Given the description of an element on the screen output the (x, y) to click on. 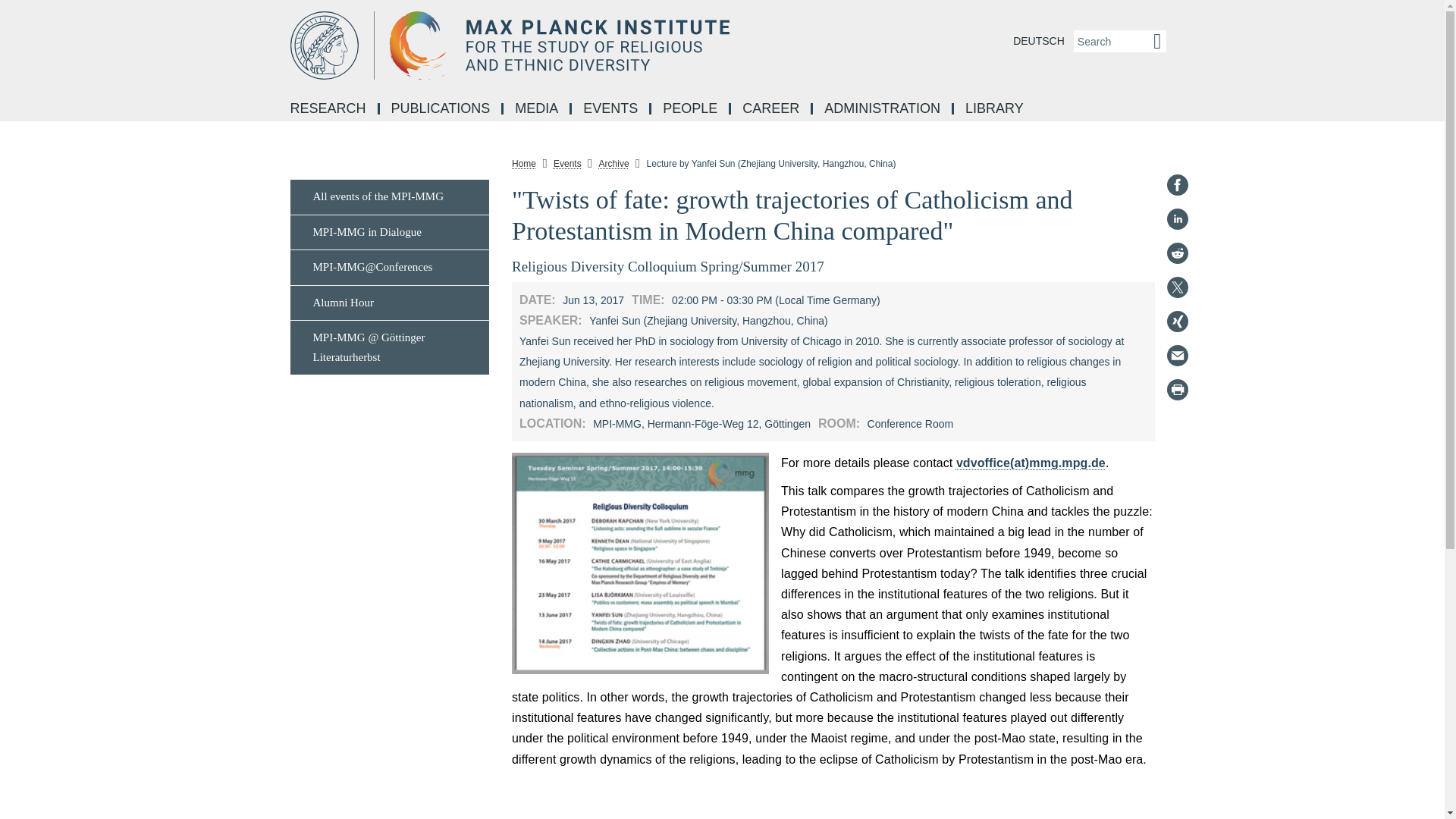
DEUTSCH (1038, 41)
RESEARCH (329, 108)
LinkedIn (1177, 219)
Facebook (1177, 184)
E-Mail (1177, 354)
Print (1177, 389)
Xing (1177, 321)
Twitter (1177, 287)
Reddit (1177, 252)
